Given the description of an element on the screen output the (x, y) to click on. 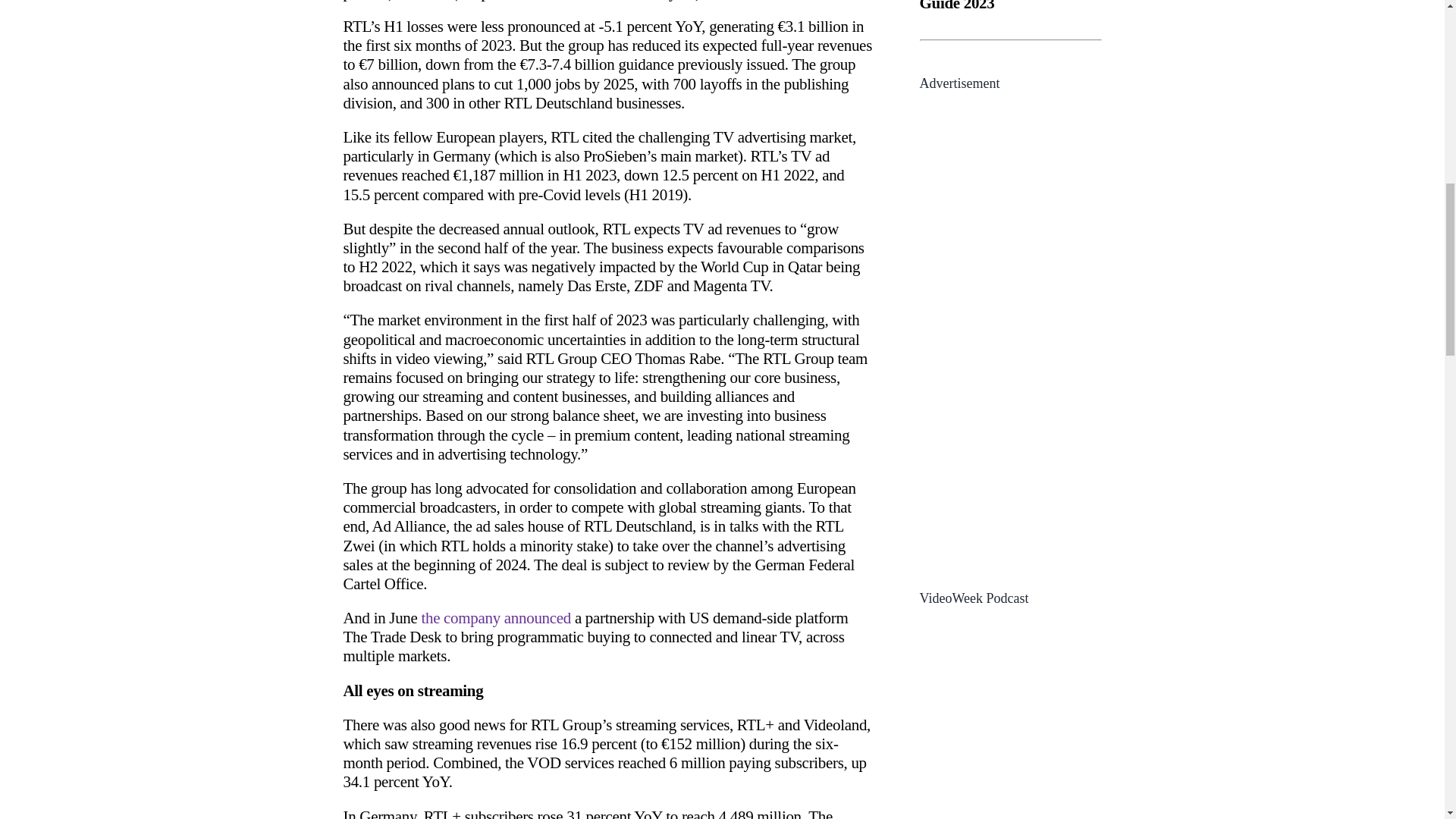
Audioboom player (1009, 717)
